Given the description of an element on the screen output the (x, y) to click on. 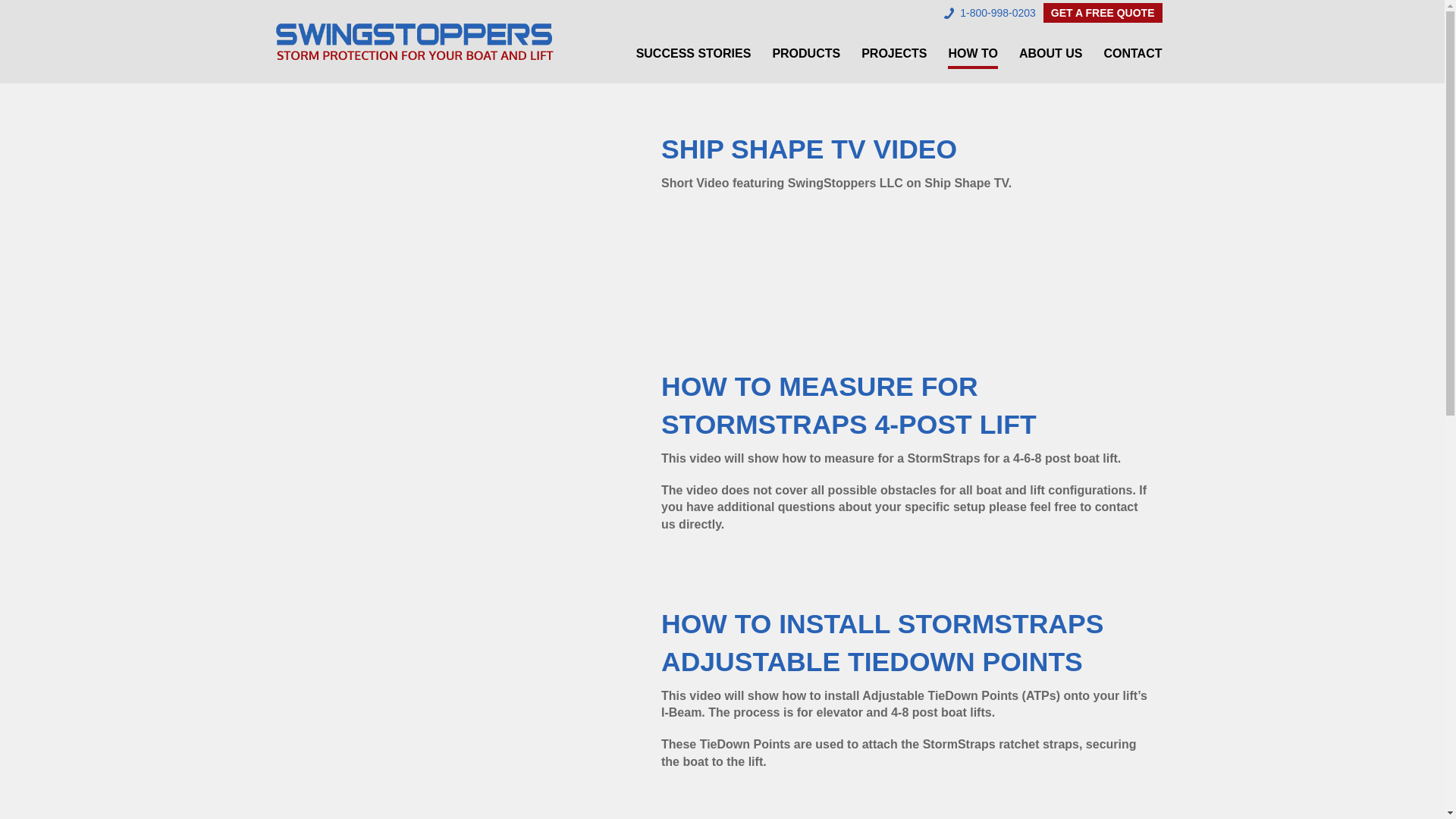
GET A FREE QUOTE (1102, 12)
SUCCESS STORIES (693, 56)
HOW TO (972, 54)
ABOUT US (1051, 56)
CONTACT (1132, 56)
PROJECTS (893, 56)
1-800-998-0203 (988, 12)
SwingStoppers (414, 41)
PRODUCTS (805, 56)
